Given the description of an element on the screen output the (x, y) to click on. 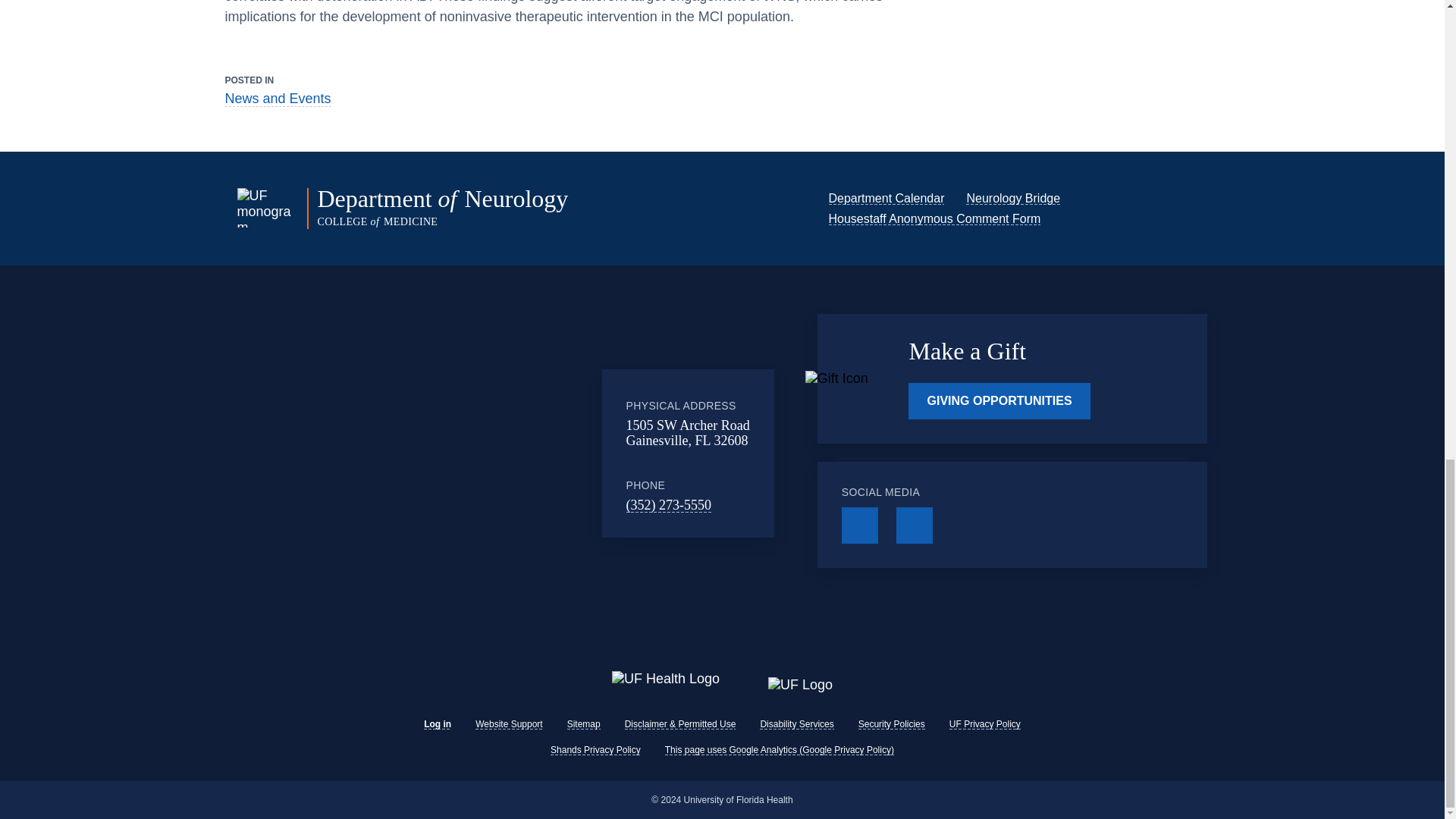
Disability Services (796, 724)
Shands Privacy Policy (595, 749)
Log in (437, 724)
Website Support (509, 724)
Google Maps Embed (477, 452)
Neurology Bridge (1012, 197)
Housestaff Anonymous Comment Form (934, 218)
Security Policies (891, 724)
Department Calendar (885, 197)
UF Privacy Policy (984, 724)
